Given the description of an element on the screen output the (x, y) to click on. 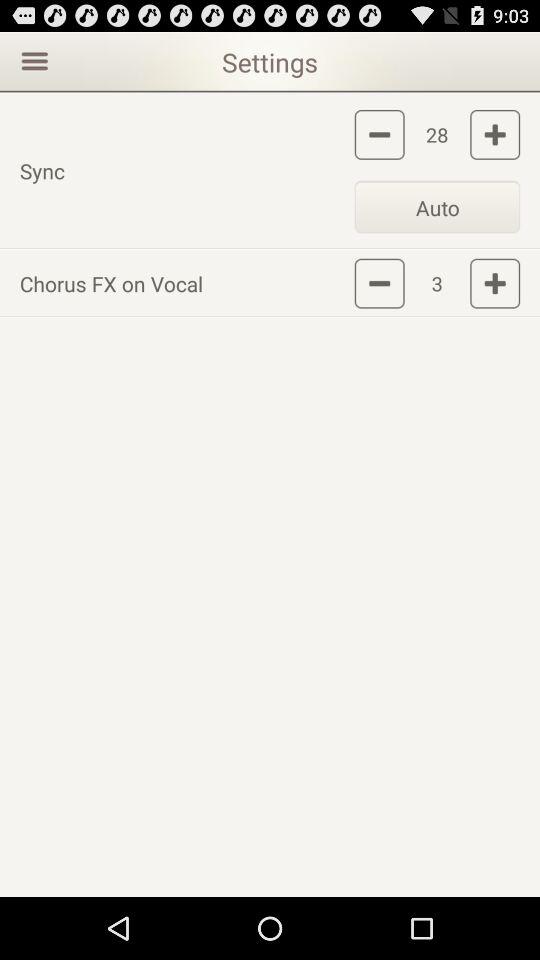
select icon next to settings app (32, 60)
